Given the description of an element on the screen output the (x, y) to click on. 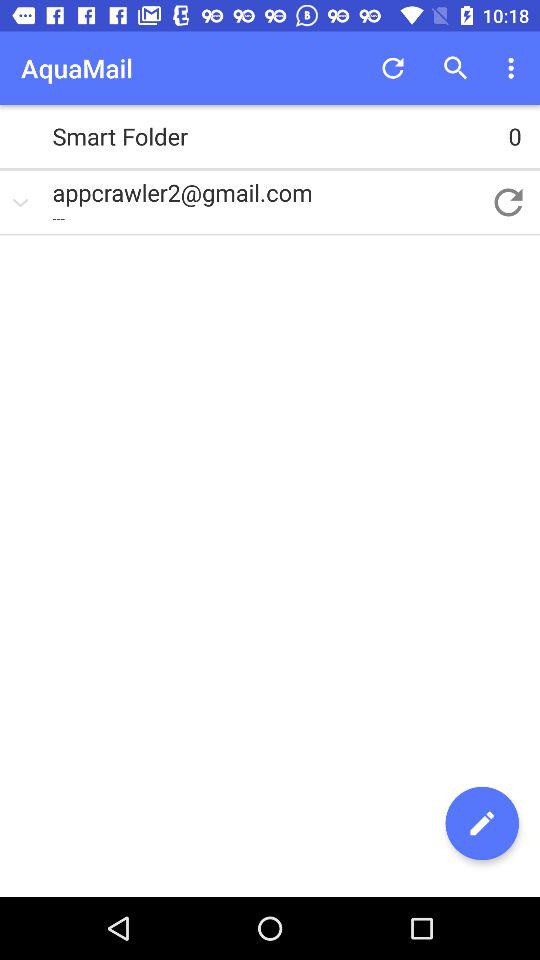
choose app to the right of the appcrawler2@gmail.com (508, 202)
